Given the description of an element on the screen output the (x, y) to click on. 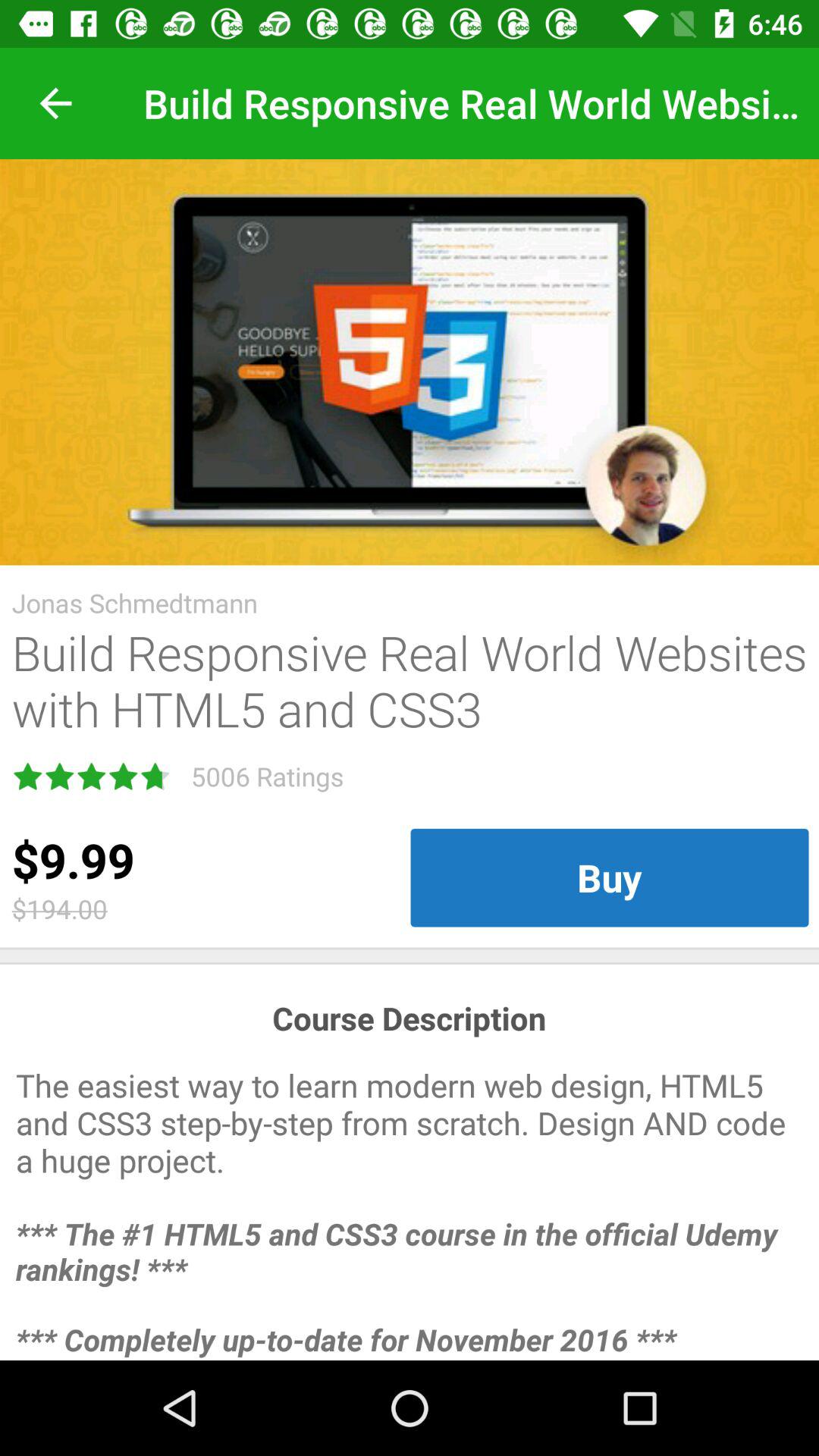
select the icon above the jonas schmedtmann (409, 362)
